Given the description of an element on the screen output the (x, y) to click on. 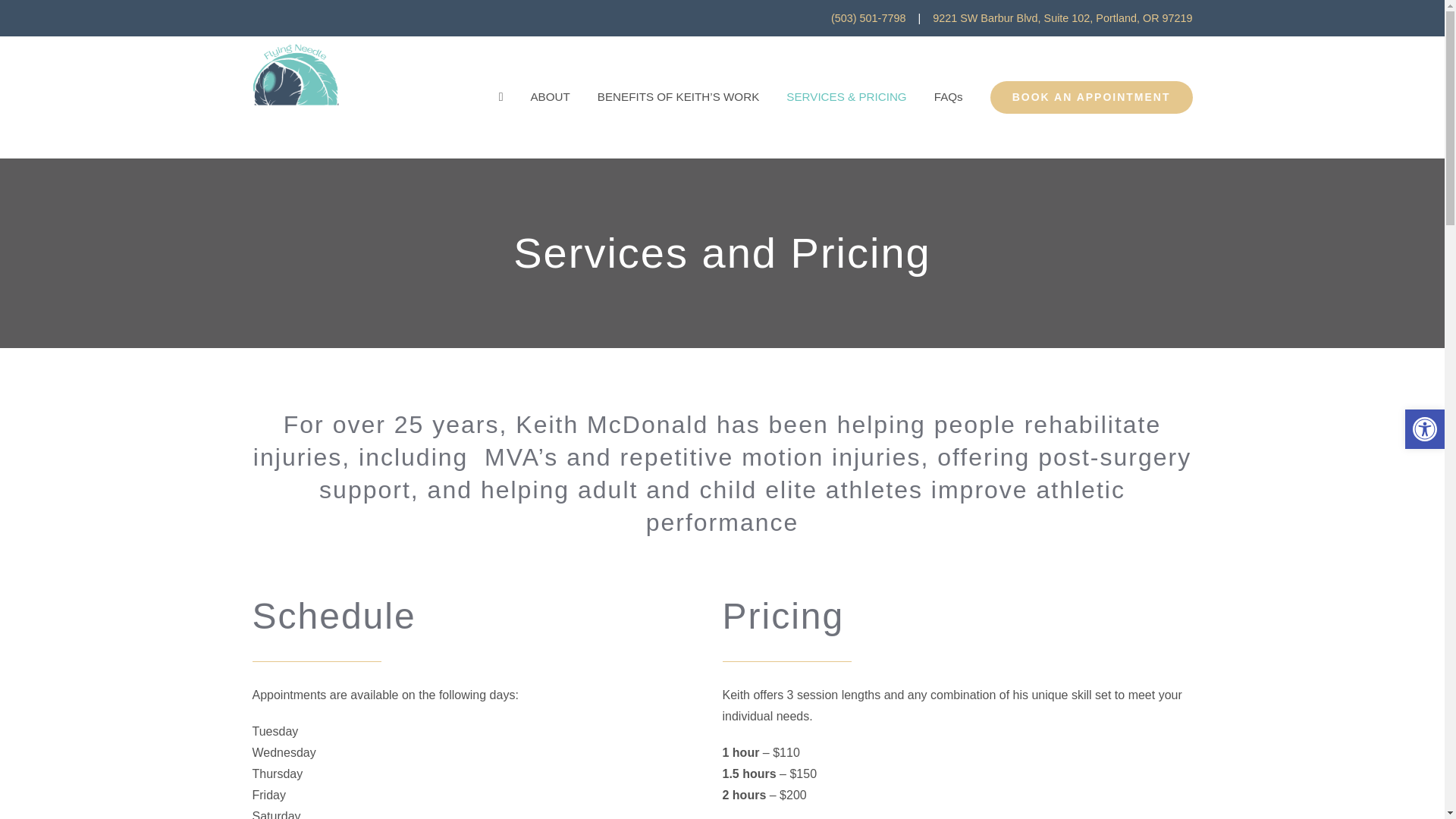
ABOUT (549, 96)
BOOK AN APPOINTMENT (1091, 97)
FAQs (948, 96)
9221 SW Barbur Blvd, Suite 102, Portland, OR 97219 (1062, 18)
Accessibility Tools (1424, 428)
